Given the description of an element on the screen output the (x, y) to click on. 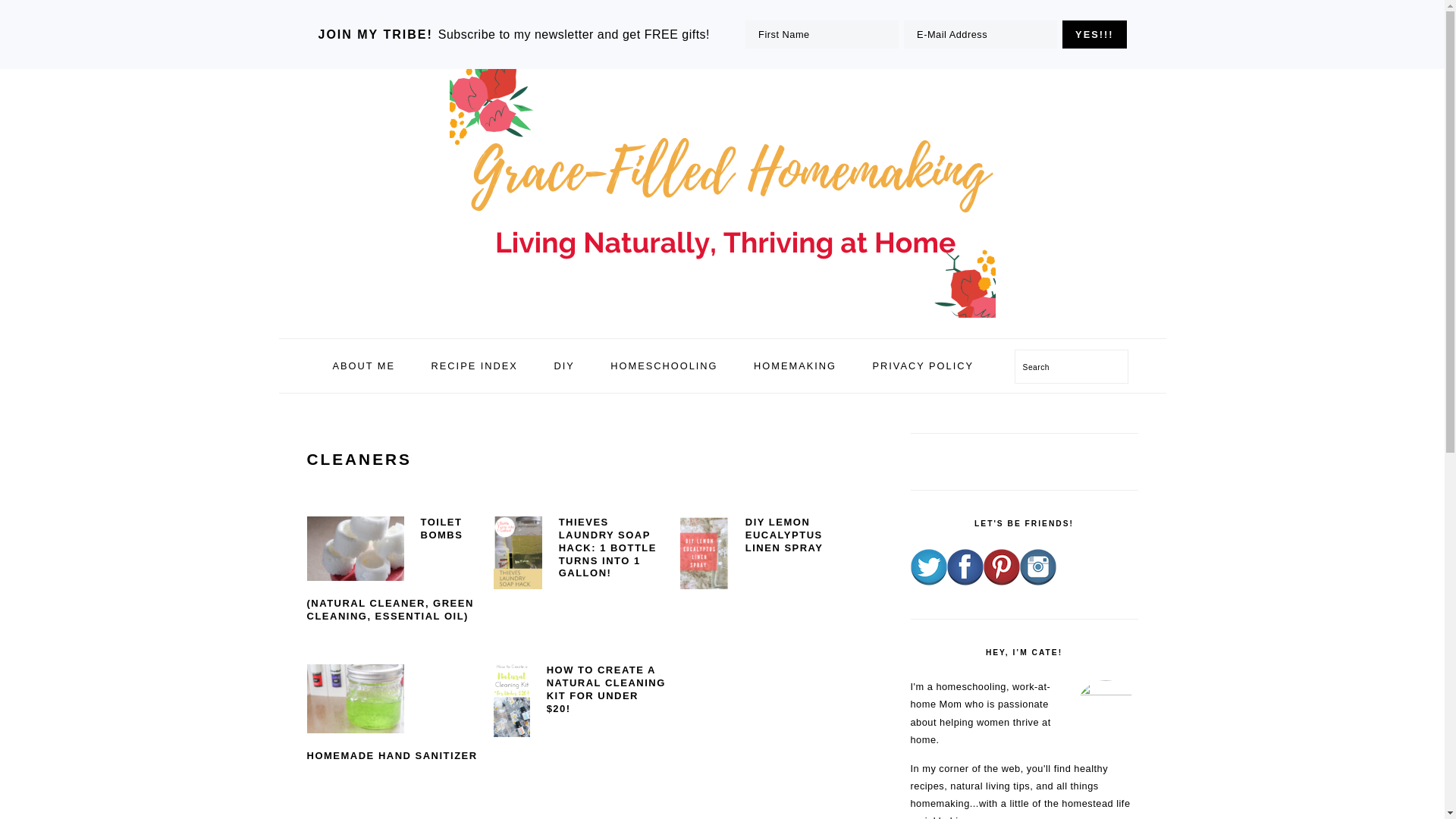
THIEVES LAUNDRY SOAP HACK: 1 BOTTLE TURNS INTO 1 GALLON! (607, 547)
HOMESCHOOLING (663, 365)
Grace-Filled Homemaking (721, 320)
RECIPE INDEX (474, 365)
ABOUT ME (362, 365)
DIY LEMON EUCALYPTUS LINEN SPRAY (784, 534)
HOMEMAKING (794, 365)
PRIVACY POLICY (923, 365)
Yes!!! (1093, 34)
DIY (563, 365)
